Given the description of an element on the screen output the (x, y) to click on. 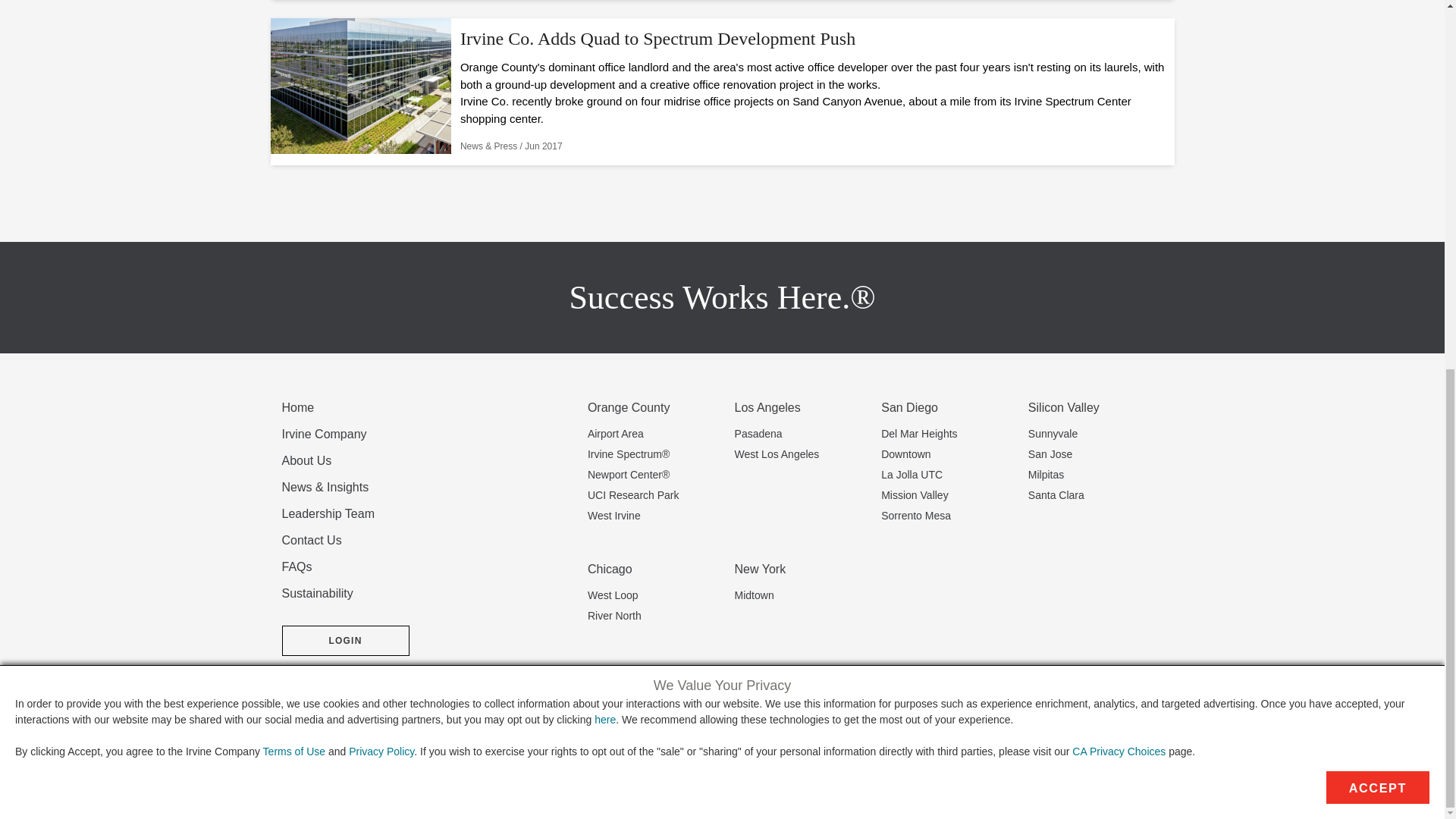
Go to the Irvine Company homepage (368, 765)
San Diego (948, 407)
Read our Privacy Policy (381, 82)
Contact Us (428, 540)
Los Angeles (802, 407)
Airport Area (655, 433)
LOGIN (345, 640)
Home (428, 407)
Close this banner (604, 51)
Orange County (655, 407)
